Given the description of an element on the screen output the (x, y) to click on. 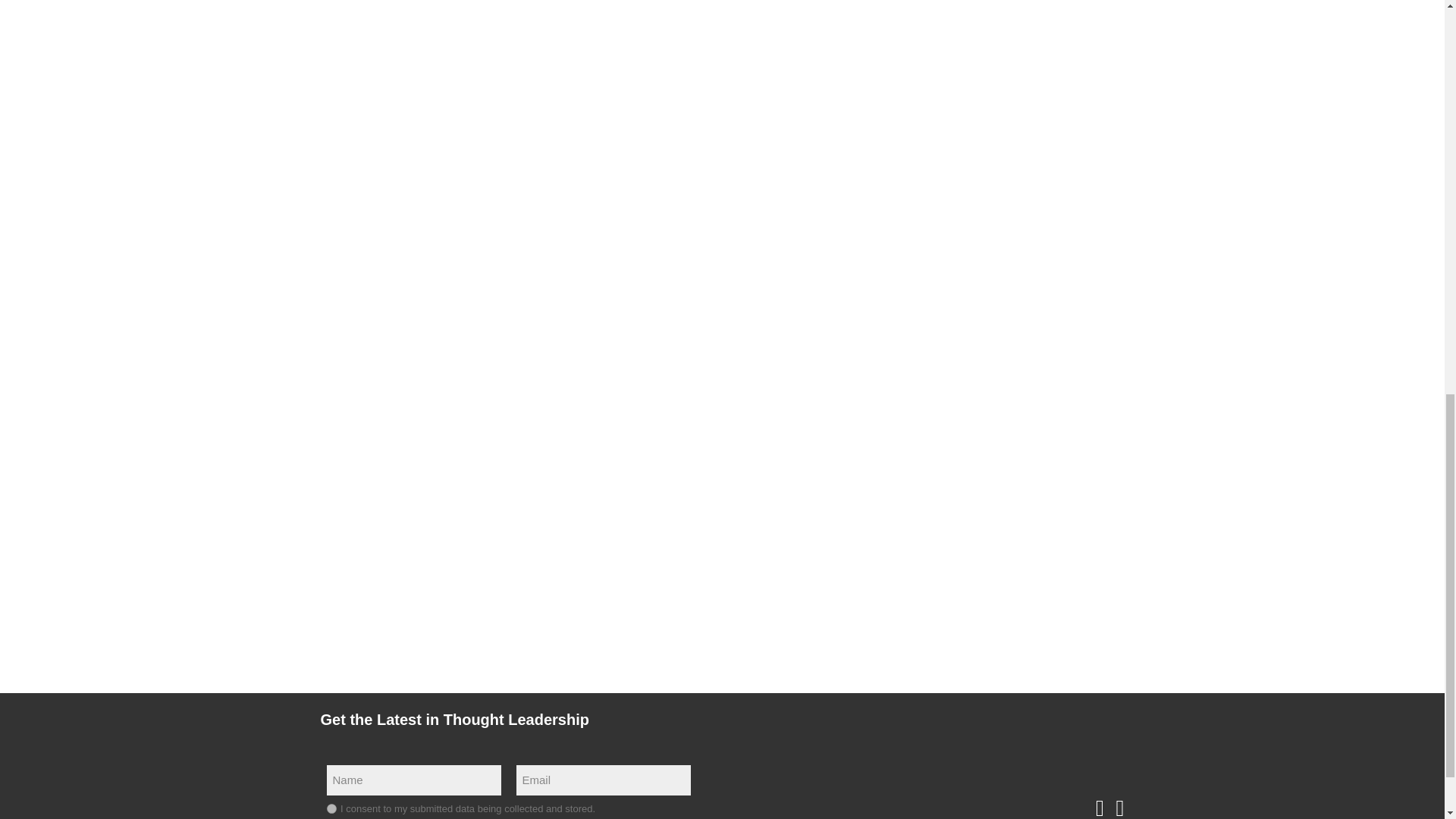
I consent to my submitted data being collected and stored. (331, 808)
